Given the description of an element on the screen output the (x, y) to click on. 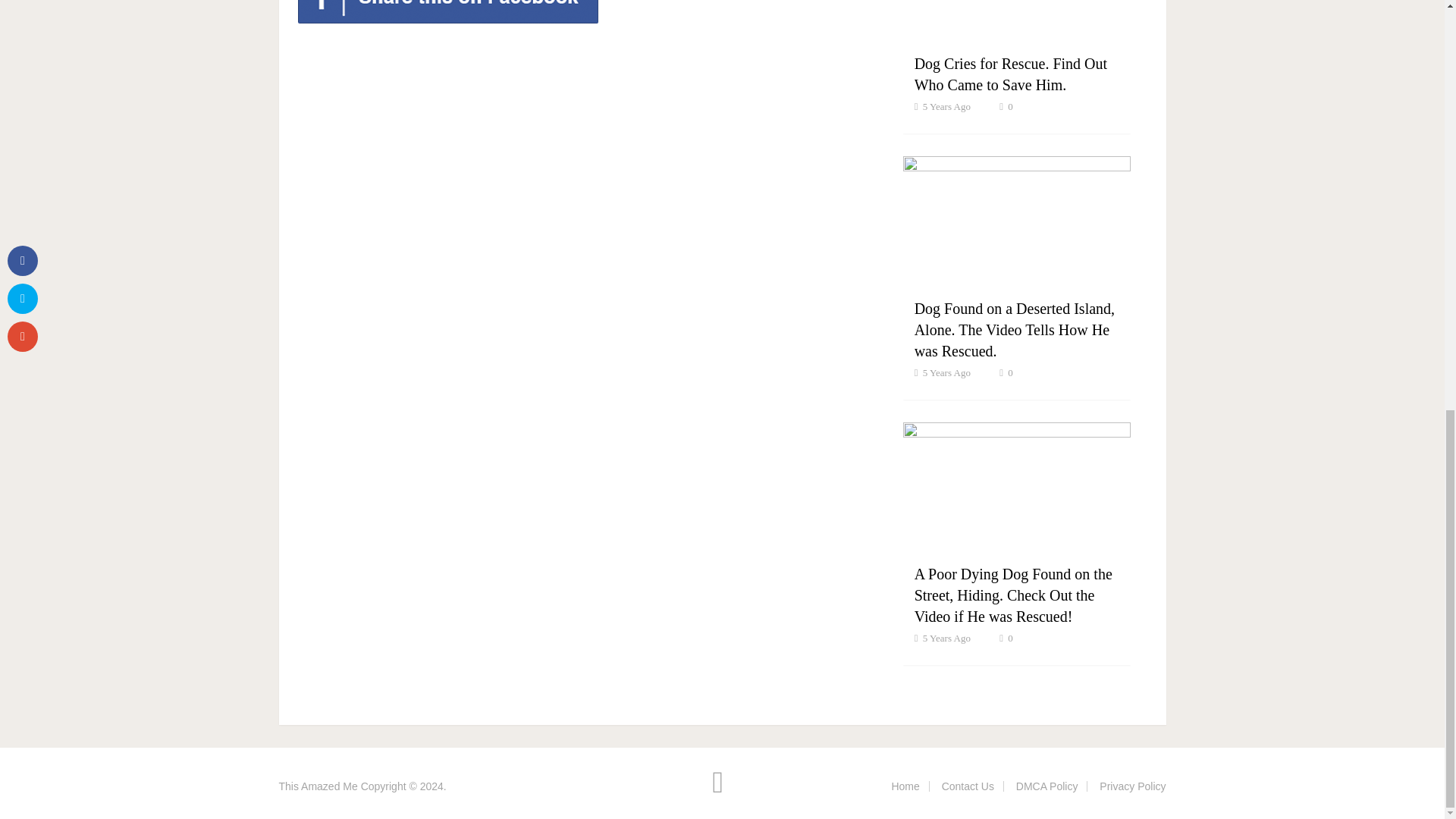
Dog Cries for Rescue. Find Out Who Came to Save Him. (1010, 74)
Privacy Policy (1132, 786)
Dog Cries for Rescue. Find Out Who Came to Save Him. (1010, 74)
DMCA Policy (1047, 786)
Contact Us (968, 786)
Home (904, 786)
Things That Amazes You, Inspires You! (318, 786)
